Given the description of an element on the screen output the (x, y) to click on. 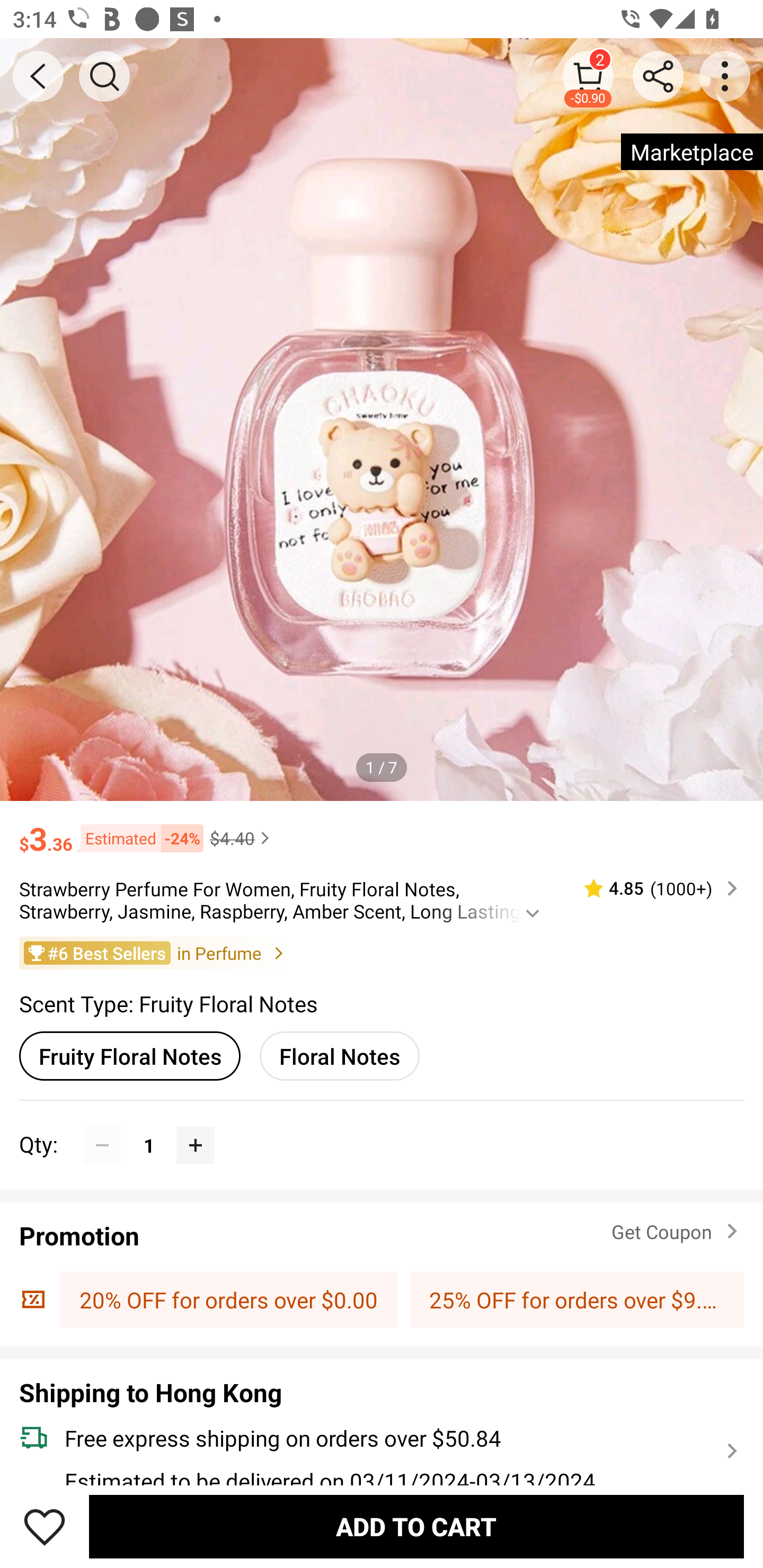
PHOTOS Marketplace 1 / 7 (381, 419)
BACK (38, 75)
2 -$0.90 (588, 75)
1 / 7 (381, 766)
$3.36 Estimated -24% $4.40 (381, 830)
Estimated -24% (137, 838)
$4.40 (241, 837)
4.85 (1000‎+) (653, 887)
#6 Best Sellers in Perfume (381, 952)
Scent Type: Fruity Floral Notes (168, 1003)
Floral Notes Floral Notesunselected option (339, 1055)
Qty: 1 (381, 1125)
ADD TO CART (416, 1526)
Save (44, 1526)
